Given the description of an element on the screen output the (x, y) to click on. 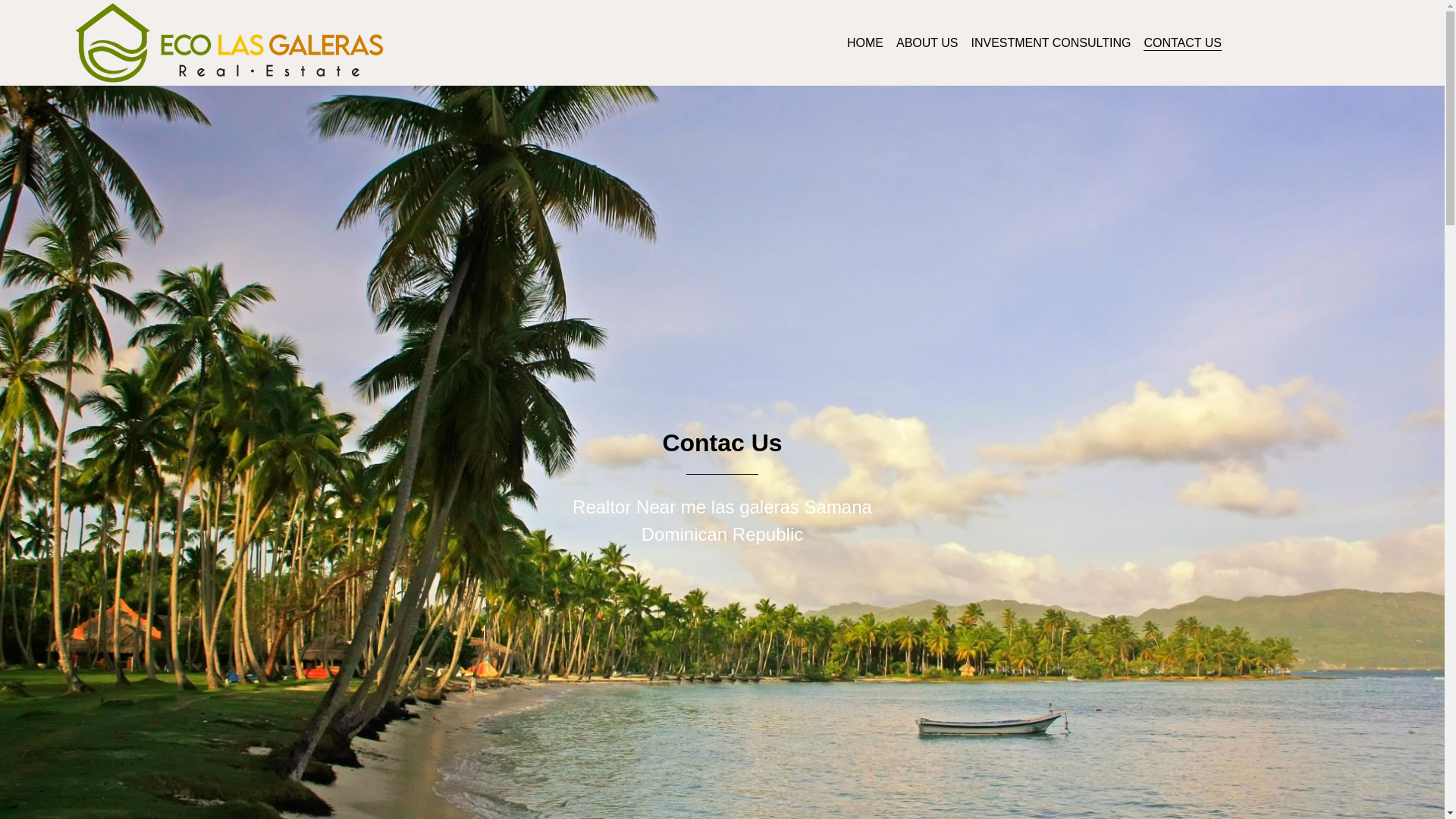
ABOUT US (927, 42)
INVESTMENT CONSULTING (1051, 42)
HOME (865, 42)
CONTACT US (1181, 42)
